Given the description of an element on the screen output the (x, y) to click on. 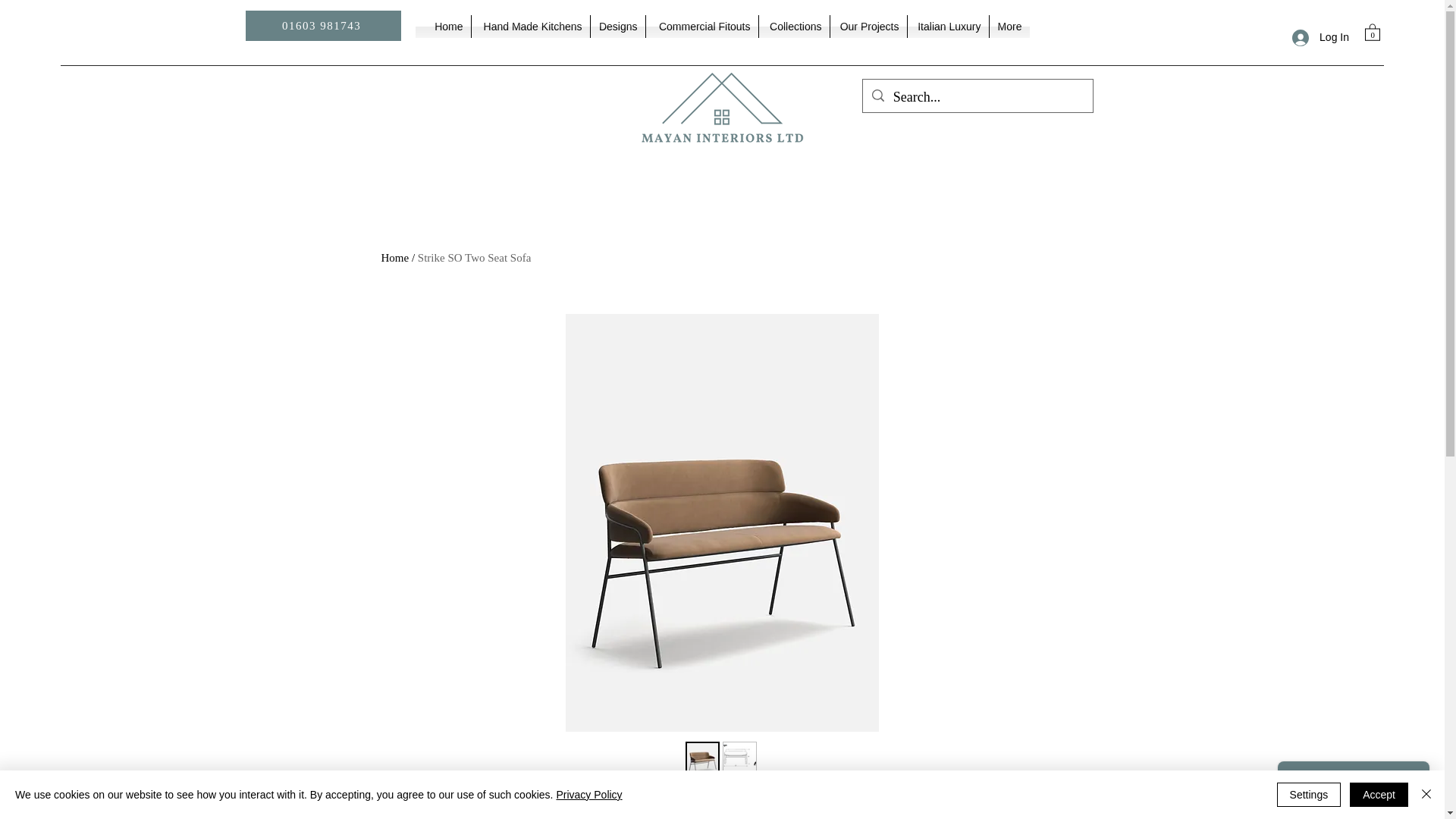
Home (448, 26)
Commercial Fitouts (702, 26)
Designs (617, 26)
Our Projects (867, 26)
01603 981743 (323, 25)
Log In (1320, 37)
Hand Made Kitchens (530, 26)
